Given the description of an element on the screen output the (x, y) to click on. 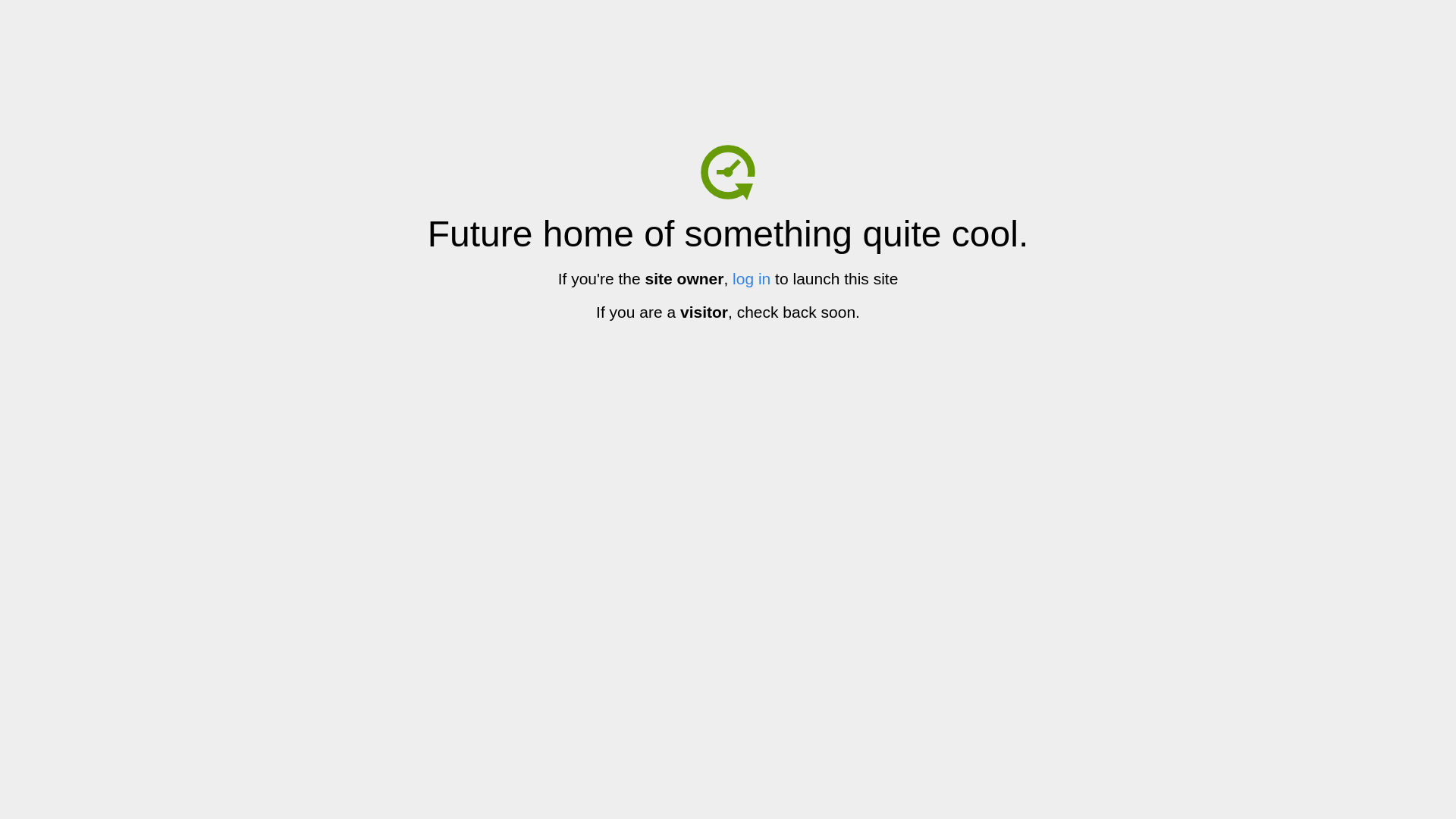
log in Element type: text (751, 278)
